Given the description of an element on the screen output the (x, y) to click on. 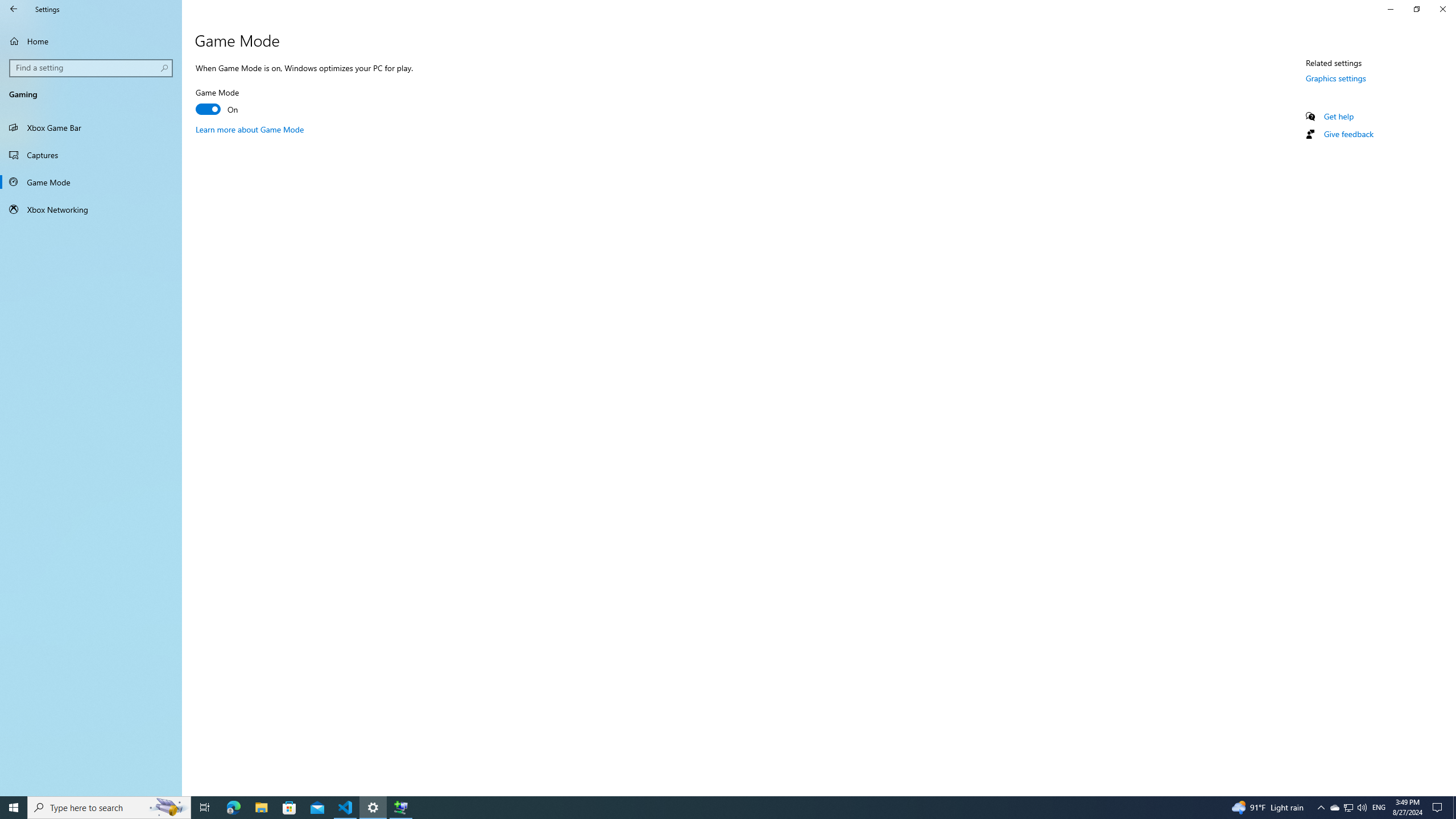
Tray Input Indicator - English (United States) (1378, 807)
Home (91, 40)
Visual Studio Code - 1 running window (345, 807)
Running applications (706, 807)
Show desktop (1454, 807)
Microsoft Edge (233, 807)
